Given the description of an element on the screen output the (x, y) to click on. 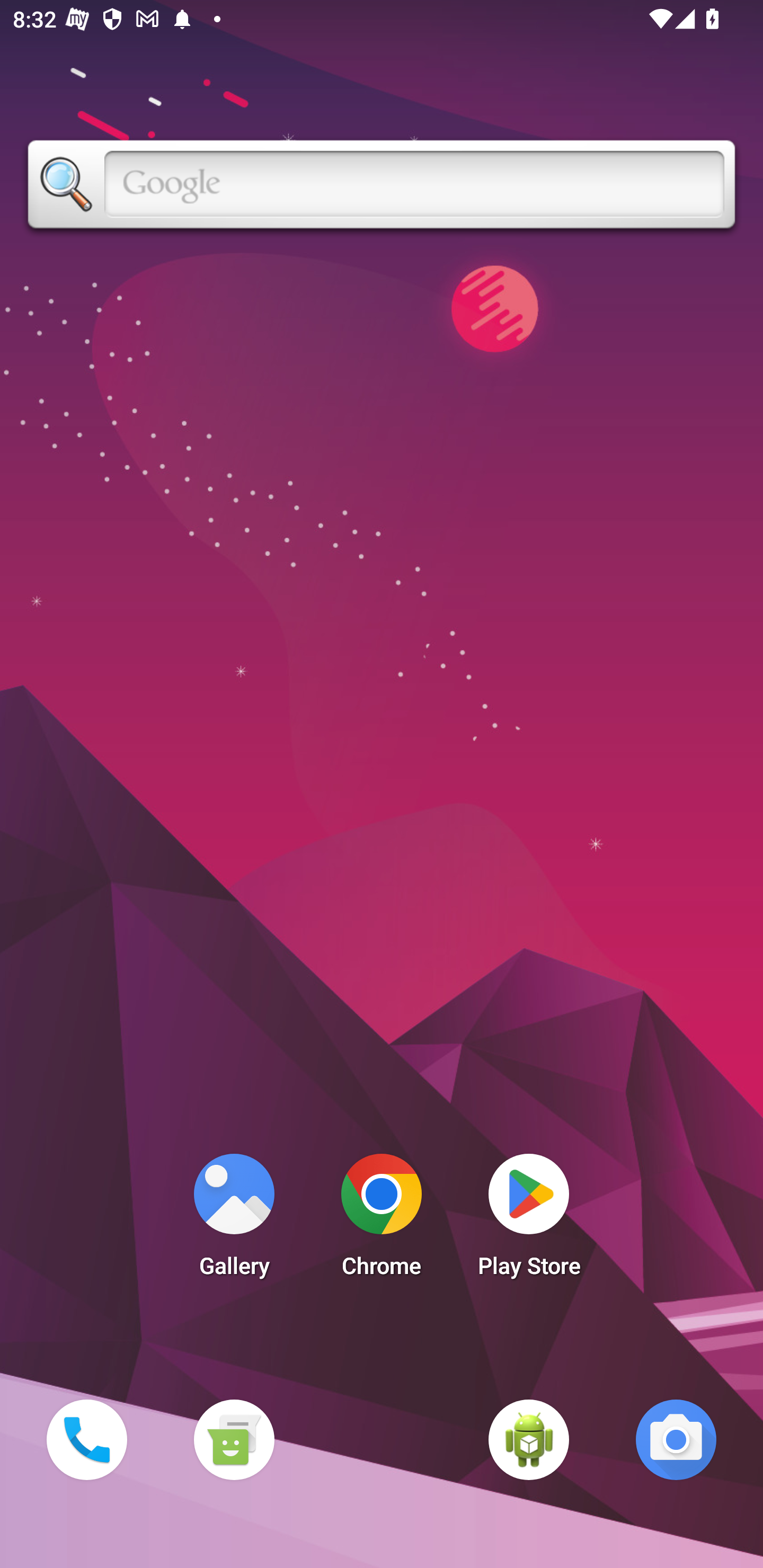
Gallery (233, 1220)
Chrome (381, 1220)
Play Store (528, 1220)
Phone (86, 1439)
Messaging (233, 1439)
WebView Browser Tester (528, 1439)
Camera (676, 1439)
